Given the description of an element on the screen output the (x, y) to click on. 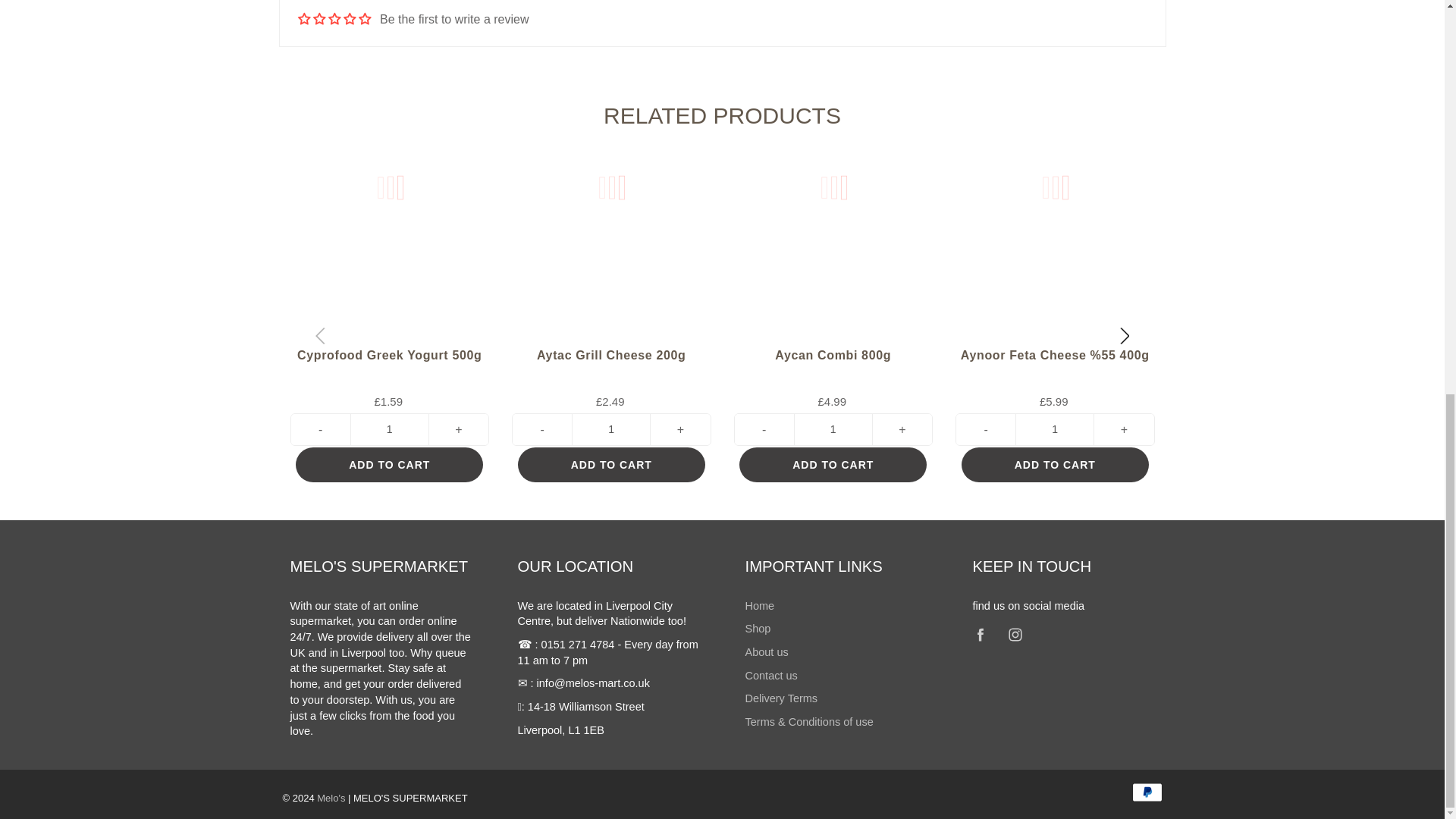
Delivery (780, 698)
Instagram (1016, 633)
1 (1054, 429)
Add to cart (832, 464)
Contact us (770, 675)
1 (611, 429)
Add to cart (611, 464)
PayPal (1146, 792)
Add to cart (1054, 464)
Terms and Conditions of use (808, 721)
Add to cart (389, 464)
1 (389, 429)
Facebook (981, 633)
1 (832, 429)
